Given the description of an element on the screen output the (x, y) to click on. 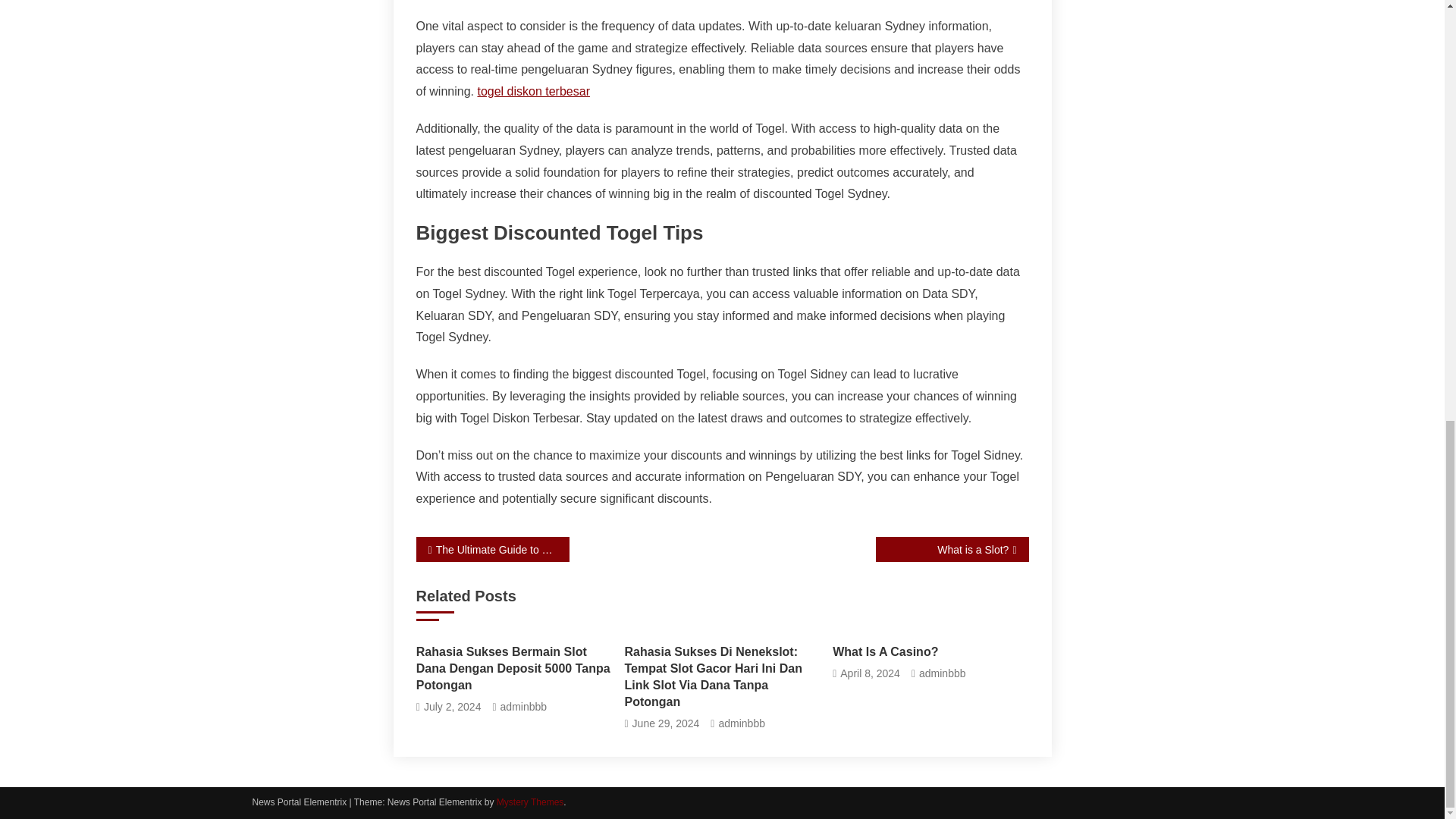
adminbbb (523, 706)
July 2, 2024 (452, 706)
adminbbb (741, 723)
Mystery Themes (529, 801)
April 8, 2024 (869, 673)
togel diskon terbesar (533, 91)
June 29, 2024 (665, 723)
adminbbb (942, 673)
What is a Slot? (951, 549)
What Is A Casino? (929, 651)
The Ultimate Guide to Togel: Play, Win, and Stay Safe Online (491, 549)
